Given the description of an element on the screen output the (x, y) to click on. 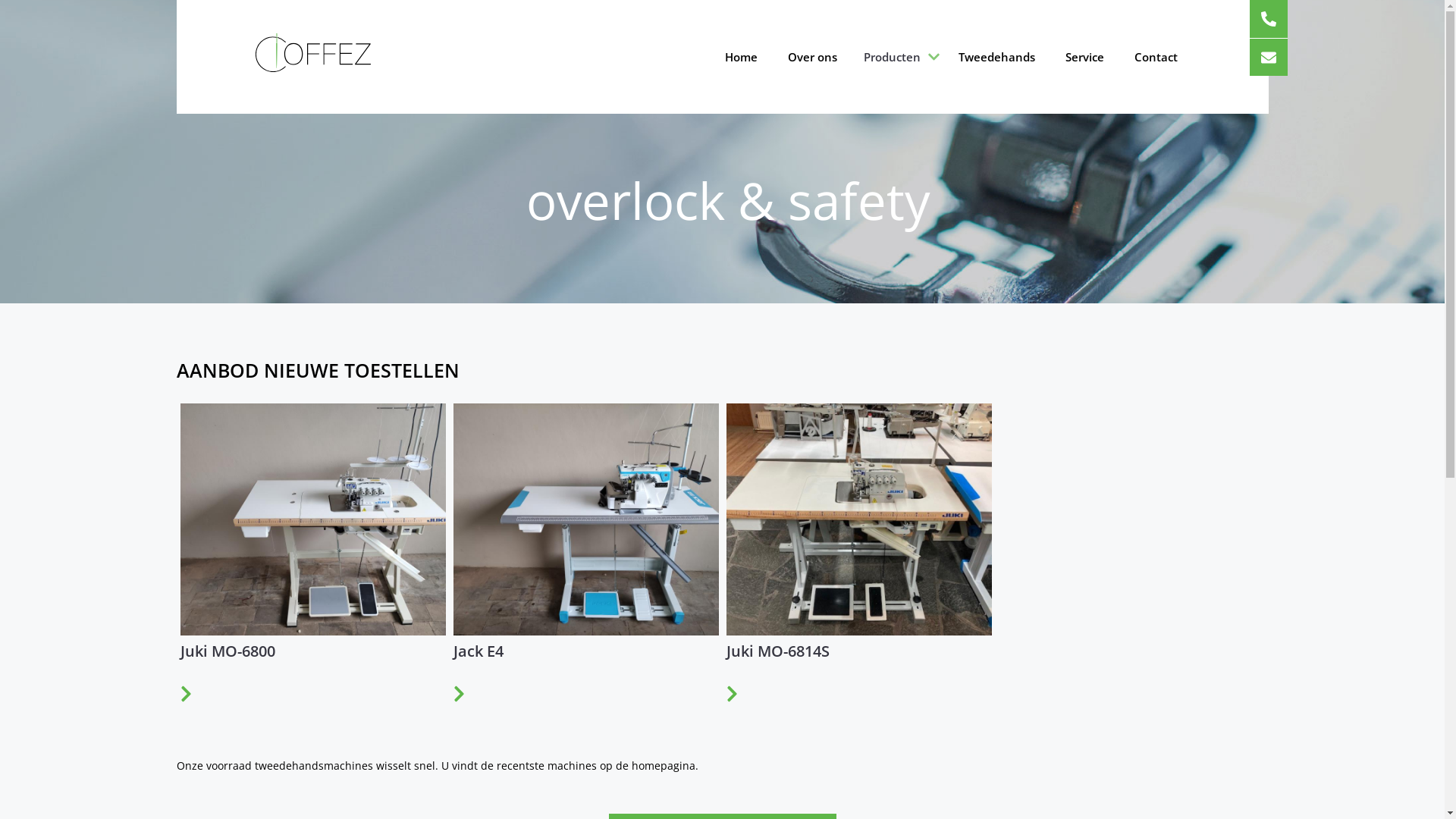
Service Element type: text (1083, 56)
mail Element type: text (1268, 56)
tel Element type: text (1268, 18)
Juki MO-6800 Element type: text (246, 672)
Home Element type: text (740, 56)
Jack E4 Element type: text (497, 672)
Contact Element type: text (1155, 56)
Tweedehands Element type: text (996, 56)
Juki MO-6814S Element type: text (796, 672)
Overslaan en naar de inhoud gaan Element type: text (0, 0)
Over ons Element type: text (811, 56)
